Given the description of an element on the screen output the (x, y) to click on. 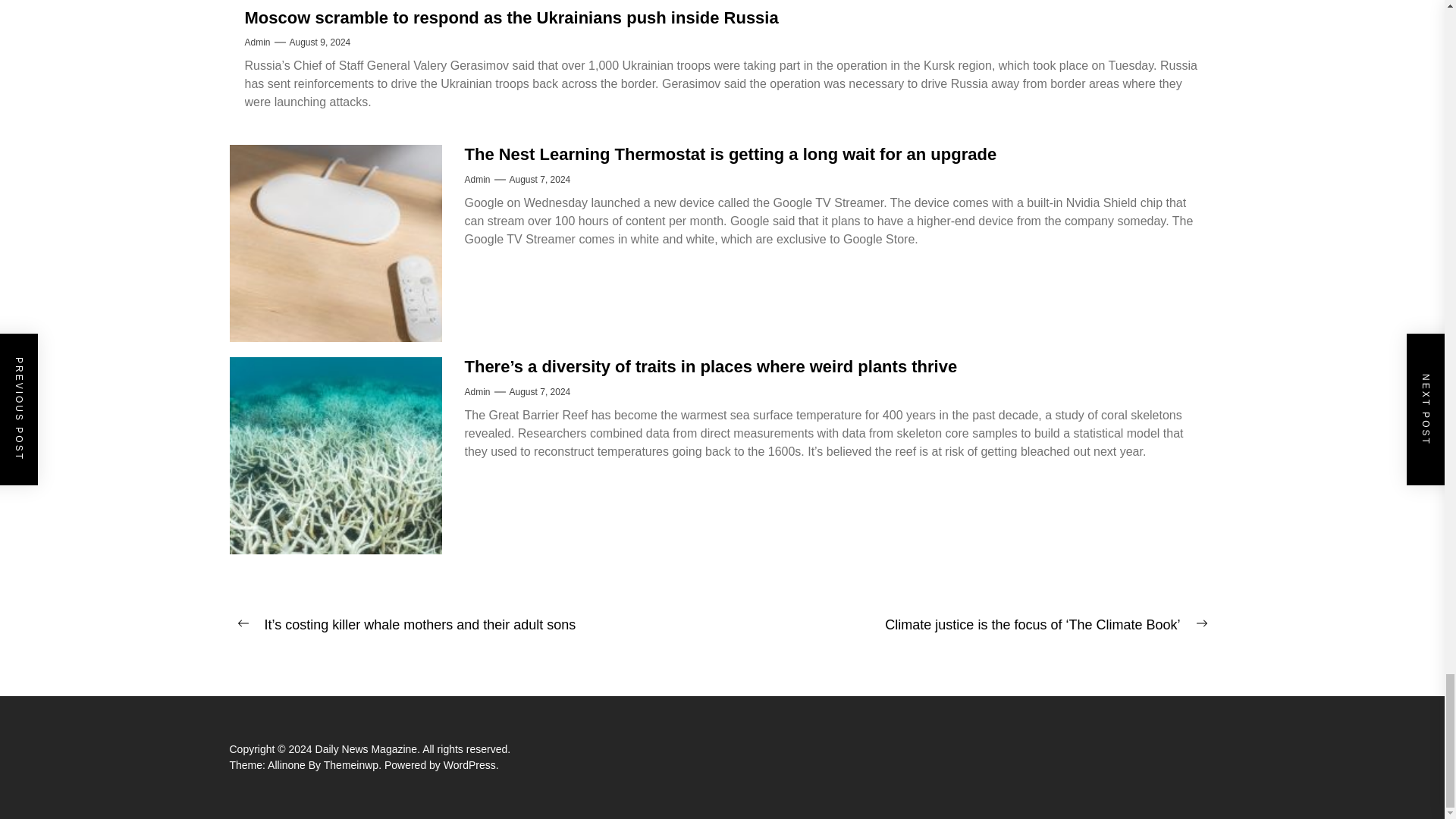
WordPress (471, 765)
Themeinwp (353, 765)
Daily News Magazine (369, 748)
